Given the description of an element on the screen output the (x, y) to click on. 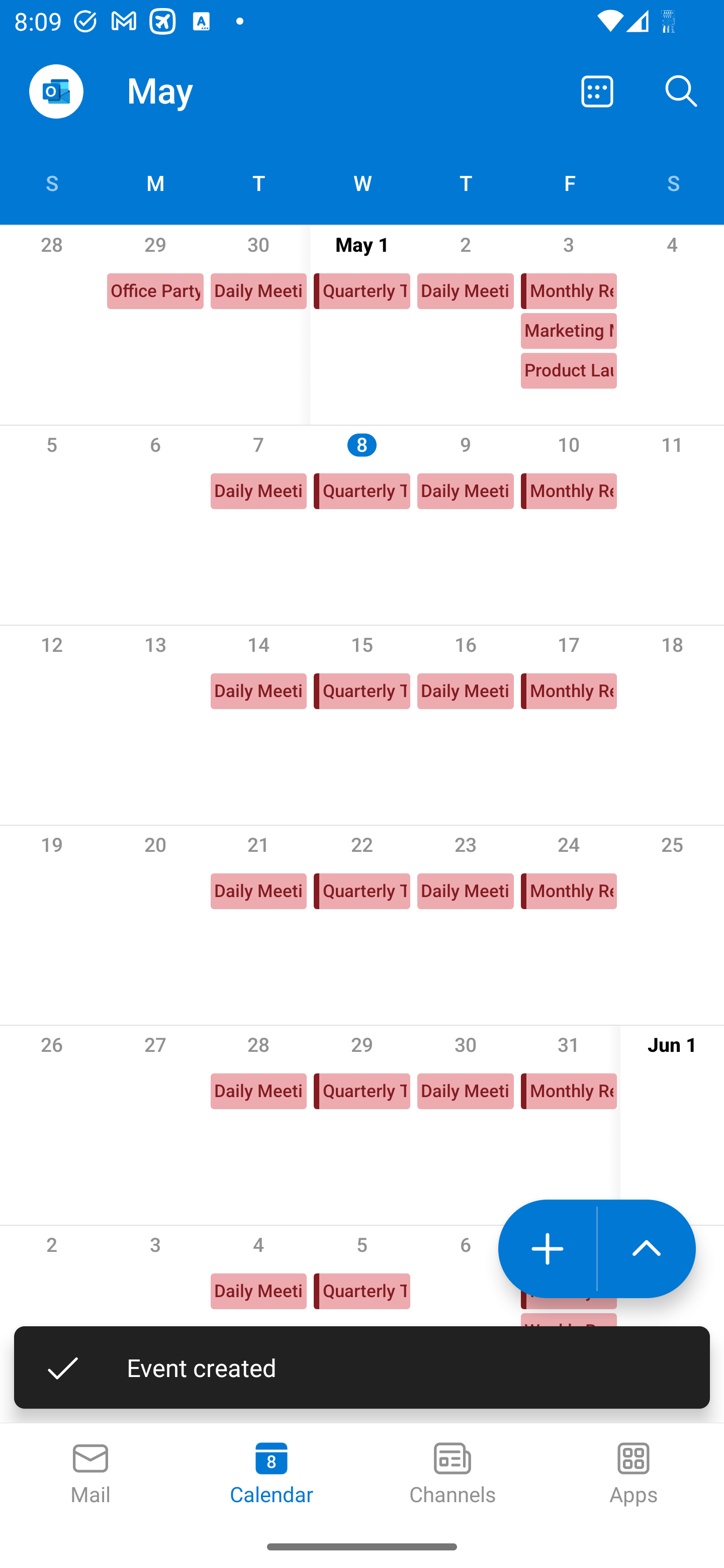
May May 2024, day picker (203, 90)
Switch away from Month view (597, 90)
Search, ,  (681, 90)
Open Navigation Drawer (55, 91)
